Given the description of an element on the screen output the (x, y) to click on. 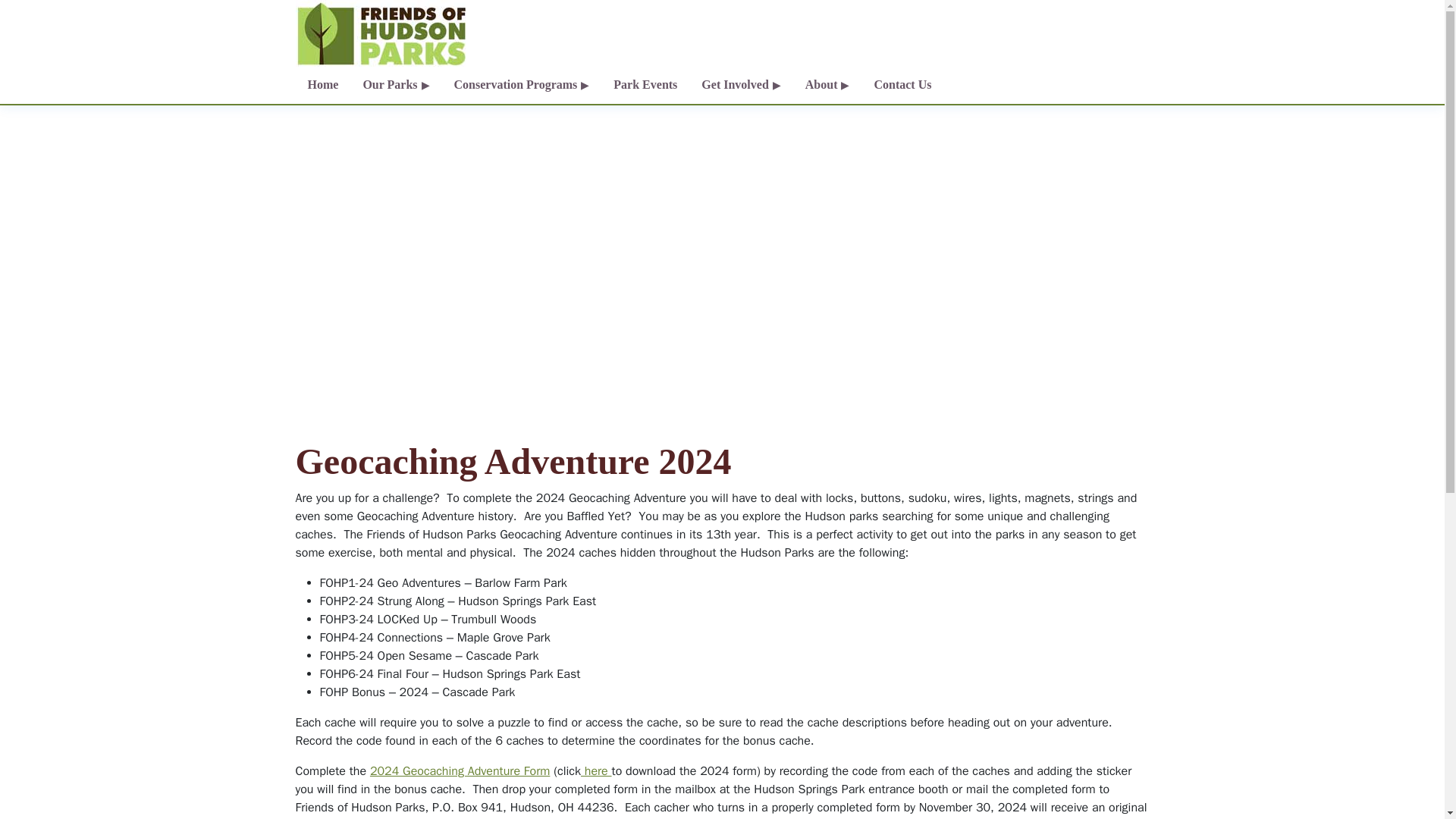
About (827, 84)
Conservation Programs (522, 84)
Park Events (644, 84)
Get Involved (740, 84)
Contact Us (902, 84)
Our Parks (395, 84)
 here  (595, 770)
Home (322, 84)
2024 Geocaching Adventure Form (459, 770)
